Given the description of an element on the screen output the (x, y) to click on. 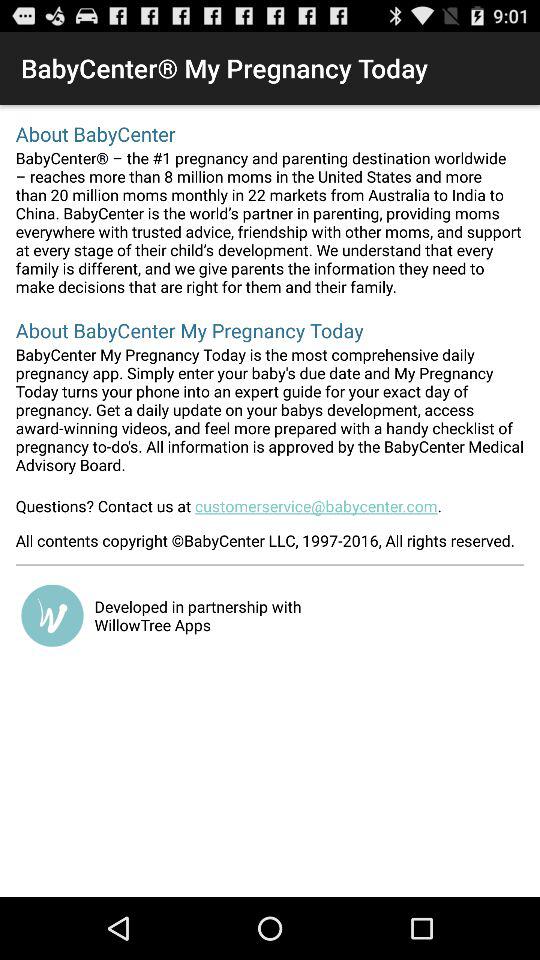
turn off the icon below babycenter my pregnancy app (269, 512)
